Given the description of an element on the screen output the (x, y) to click on. 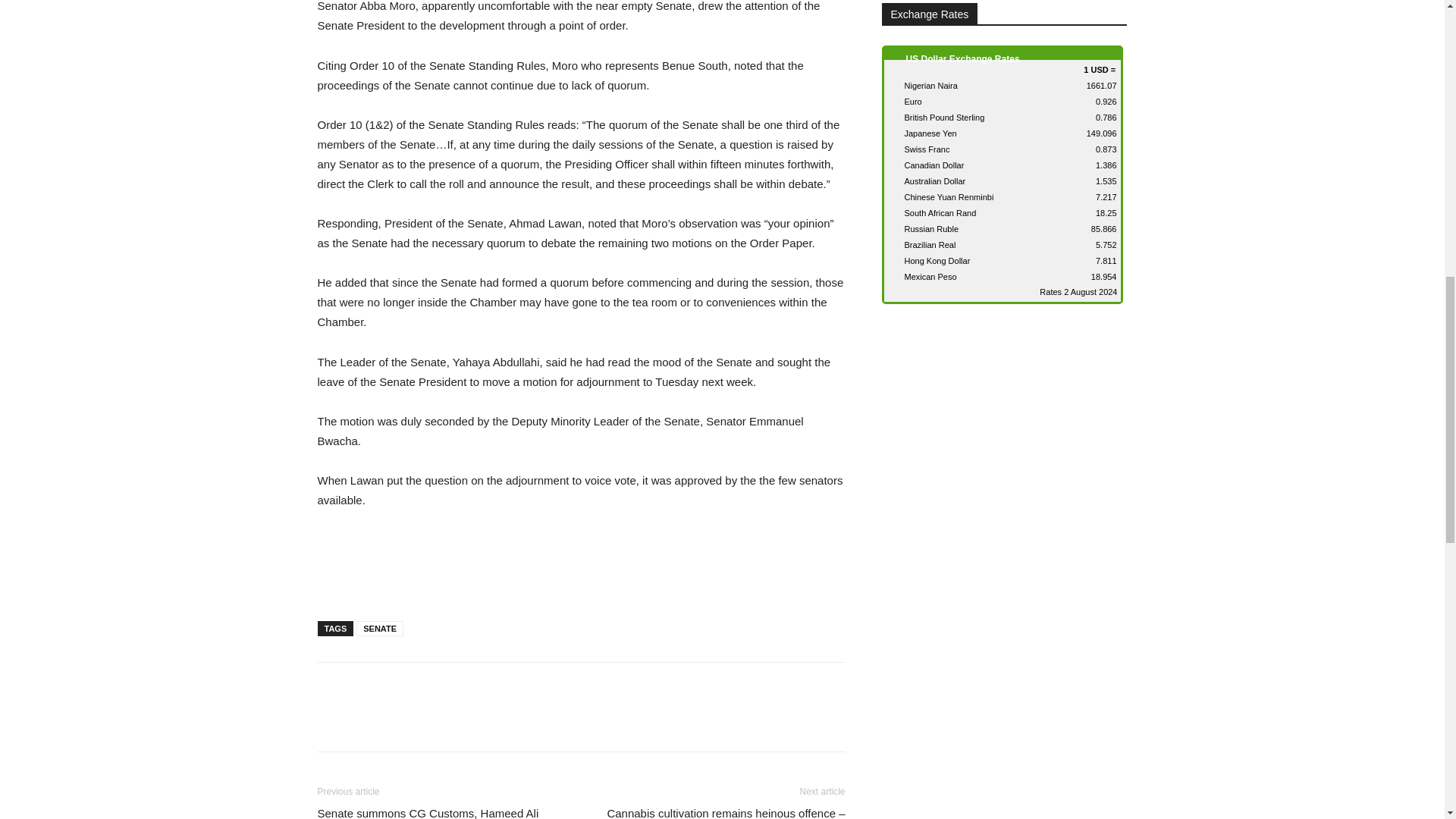
bottomFacebookLike (430, 686)
